Given the description of an element on the screen output the (x, y) to click on. 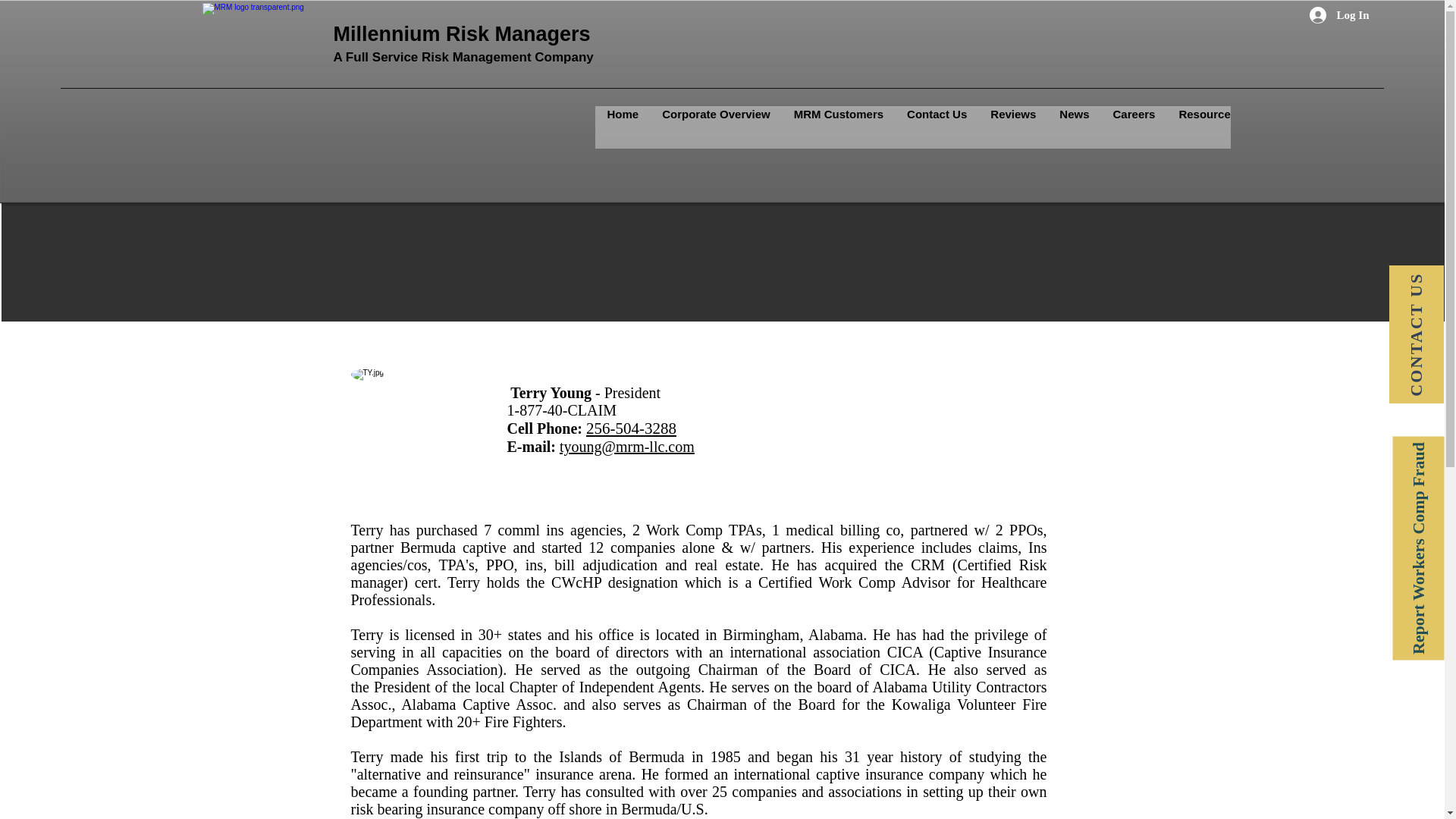
News (1073, 127)
Careers (1133, 127)
Reviews (1012, 127)
256-504-3288 (631, 428)
Contact Us (936, 127)
Home (621, 127)
Millennium Risk Managers (462, 33)
Log In (1339, 14)
